Given the description of an element on the screen output the (x, y) to click on. 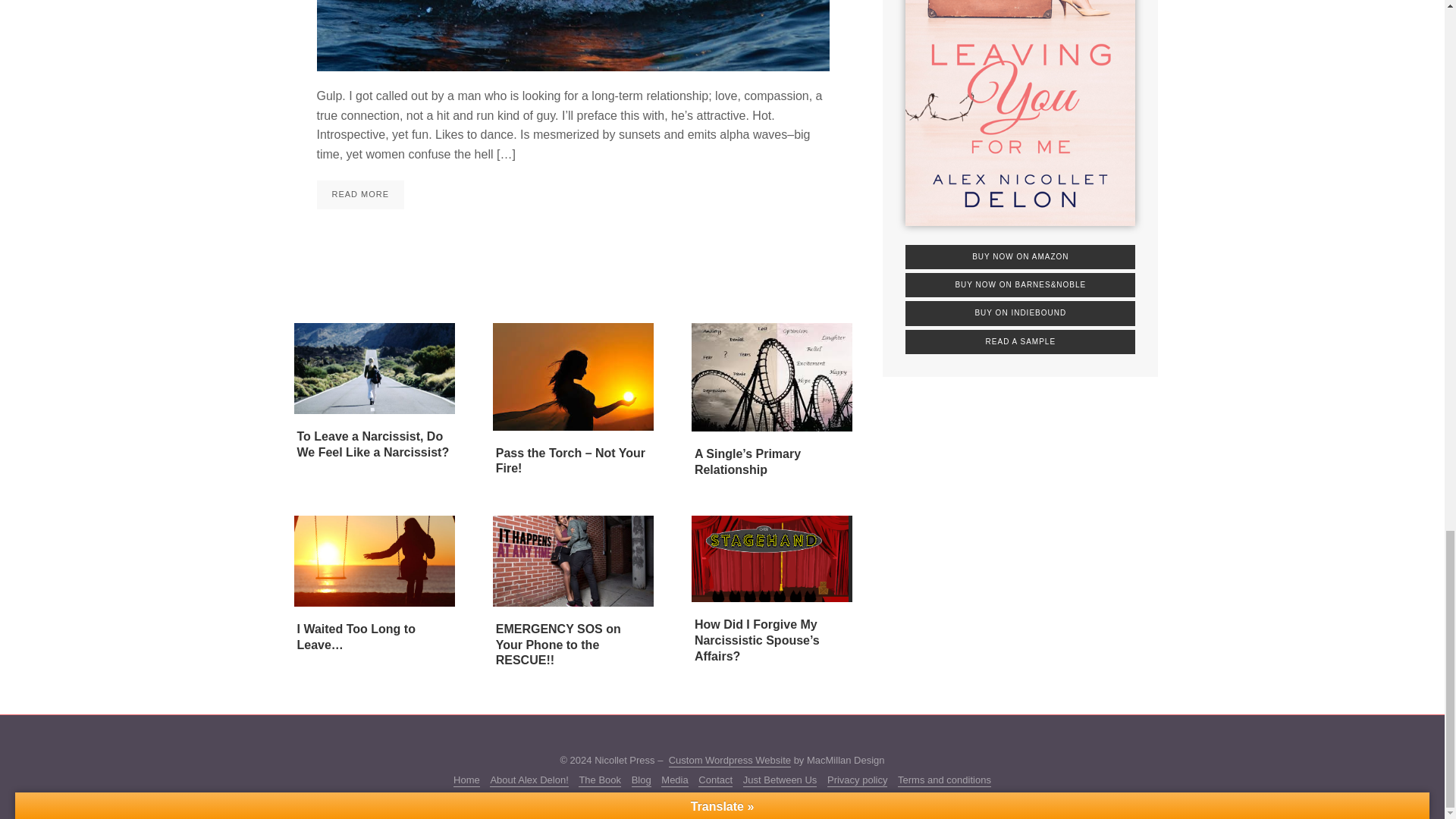
READ MORE (360, 194)
To Leave a Narcissist, Do We Feel Like a Narcissist? (373, 443)
Date in Deep Water or Shallows? (573, 35)
Read More (360, 194)
To Leave a Narcissist, Do We Feel Like a Narcissist? (373, 443)
To Leave a Narcissist, Do We Feel Like a Narcissist? (374, 367)
